Given the description of an element on the screen output the (x, y) to click on. 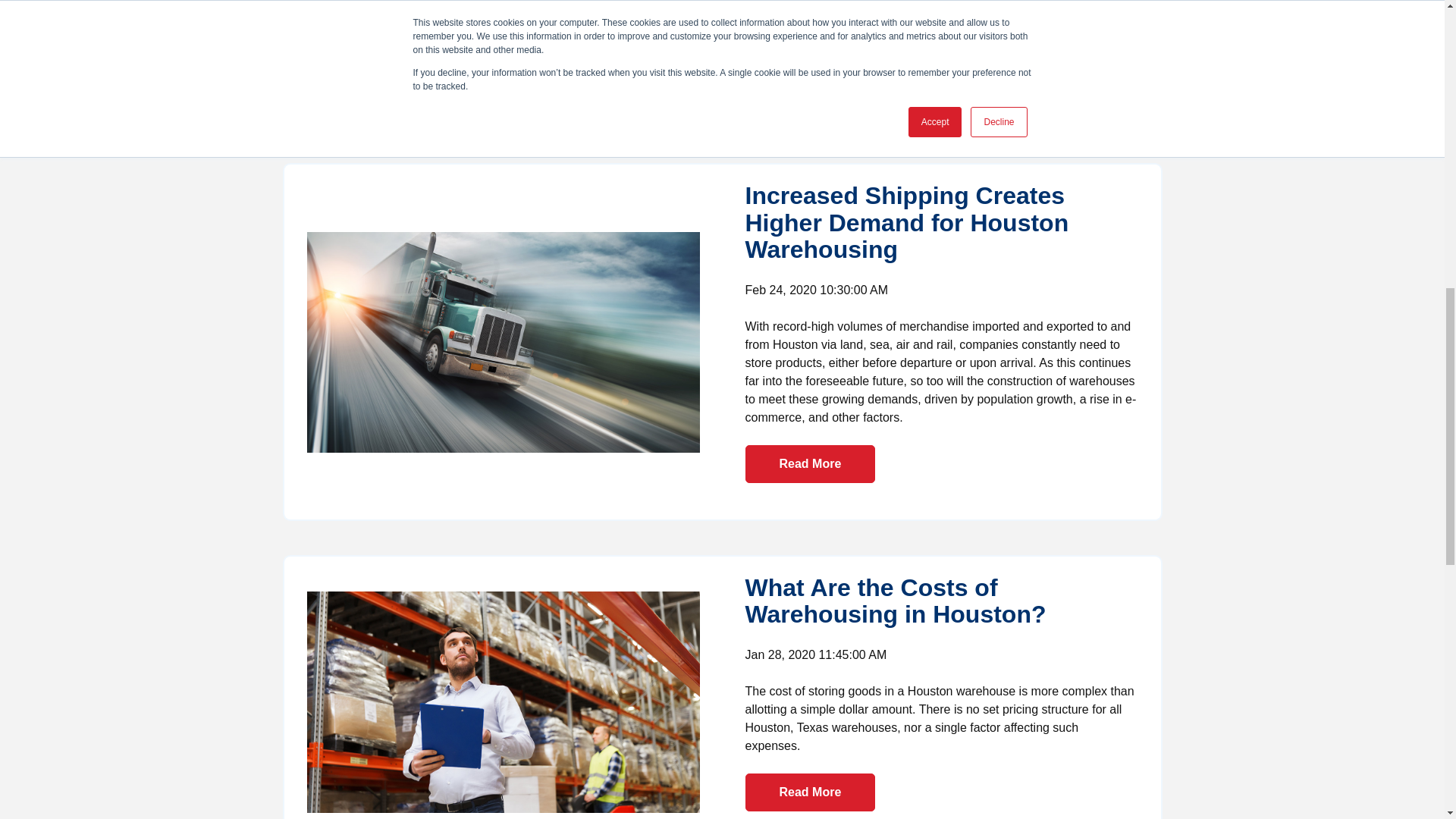
Read More (809, 72)
Read More (809, 464)
What Are the Costs of Warehousing in Houston? (894, 601)
Read More (809, 792)
